Given the description of an element on the screen output the (x, y) to click on. 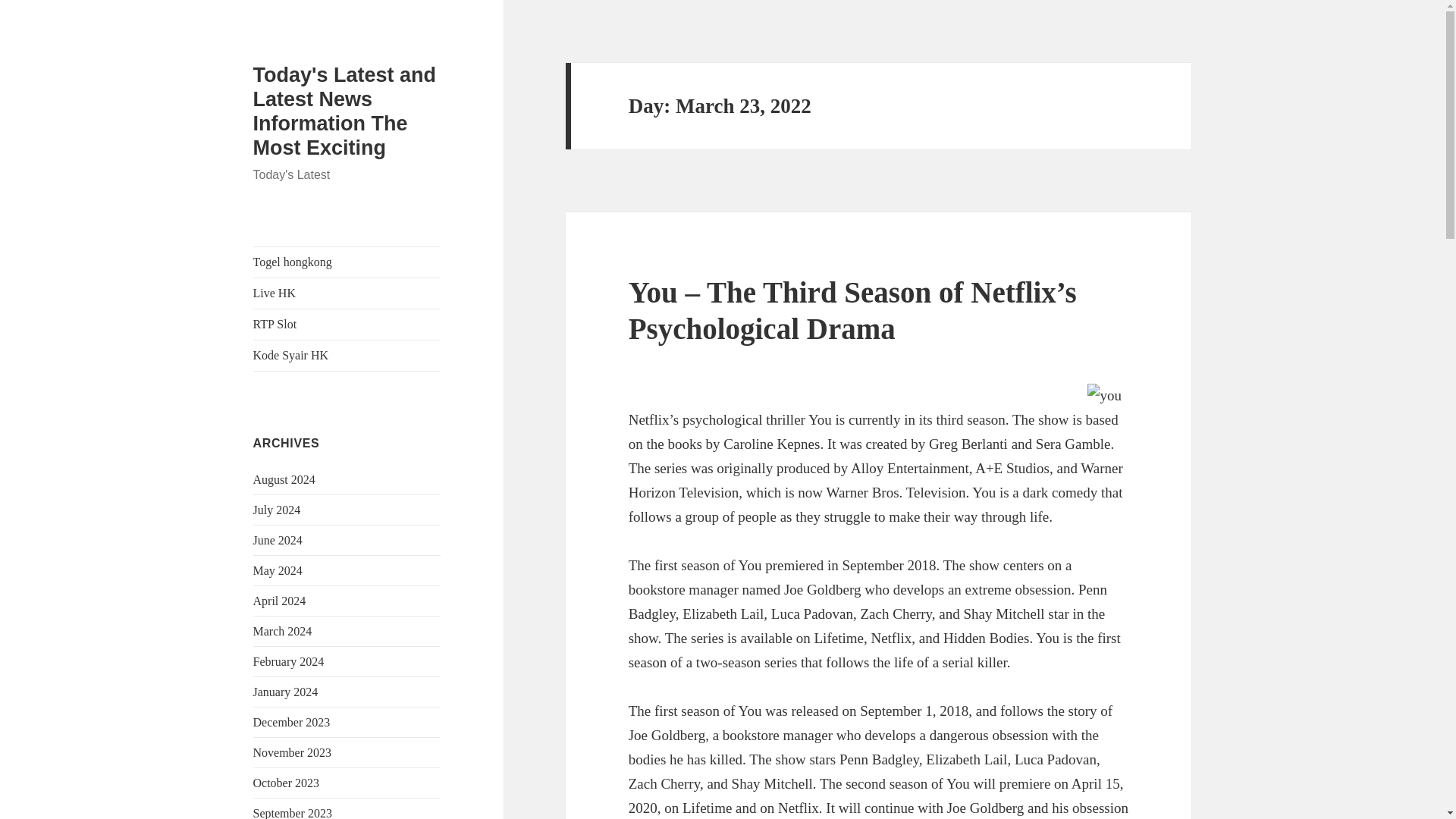
July 2024 (277, 509)
RTP Slot (347, 324)
Togel hongkong (347, 262)
Live HK (347, 293)
February 2024 (288, 661)
April 2024 (279, 600)
May 2024 (277, 570)
Kode Syair HK (347, 355)
November 2023 (292, 752)
Today's Latest and Latest News Information The Most Exciting (344, 110)
